Given the description of an element on the screen output the (x, y) to click on. 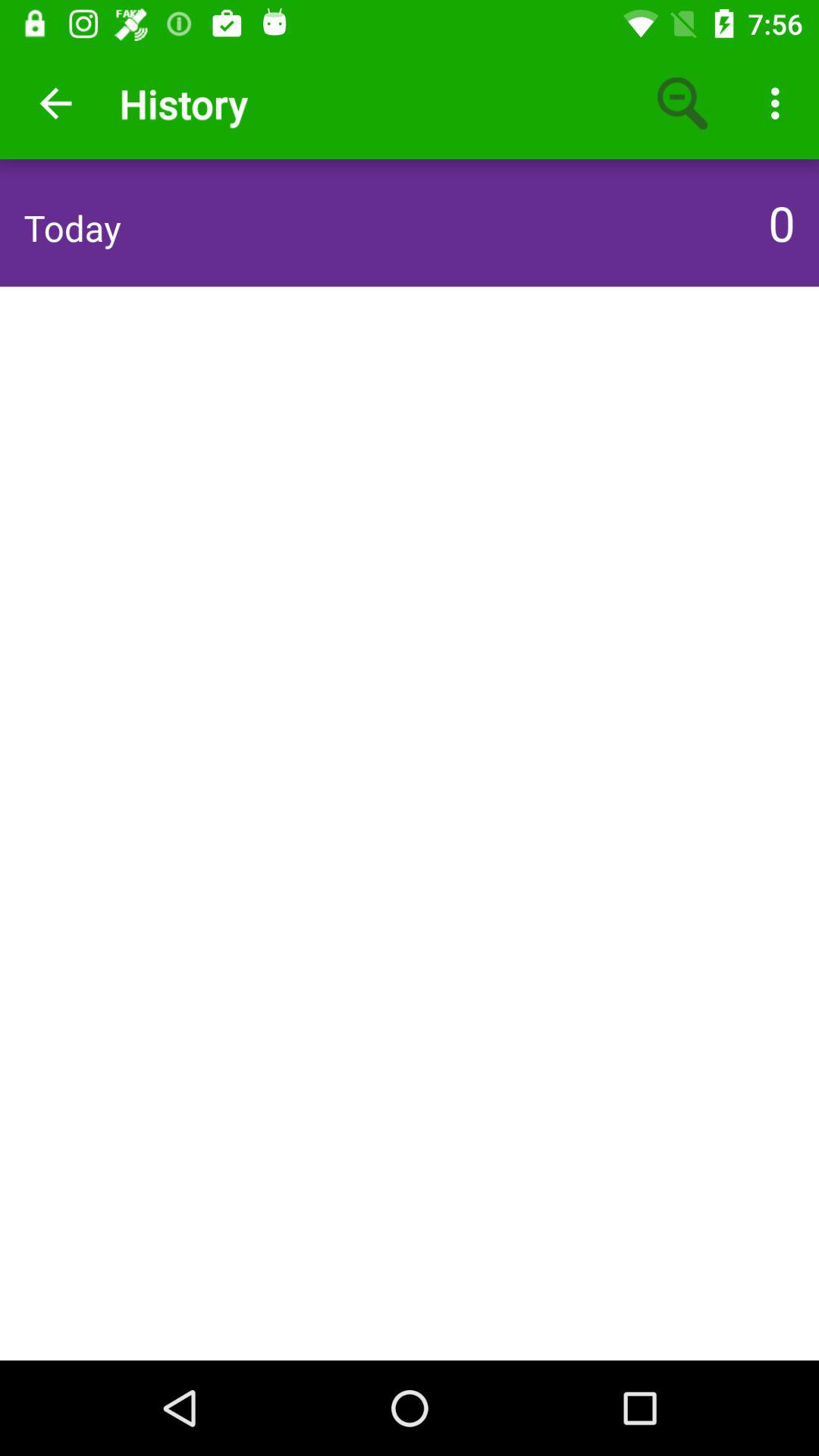
turn on the icon to the right of the history (683, 103)
